Given the description of an element on the screen output the (x, y) to click on. 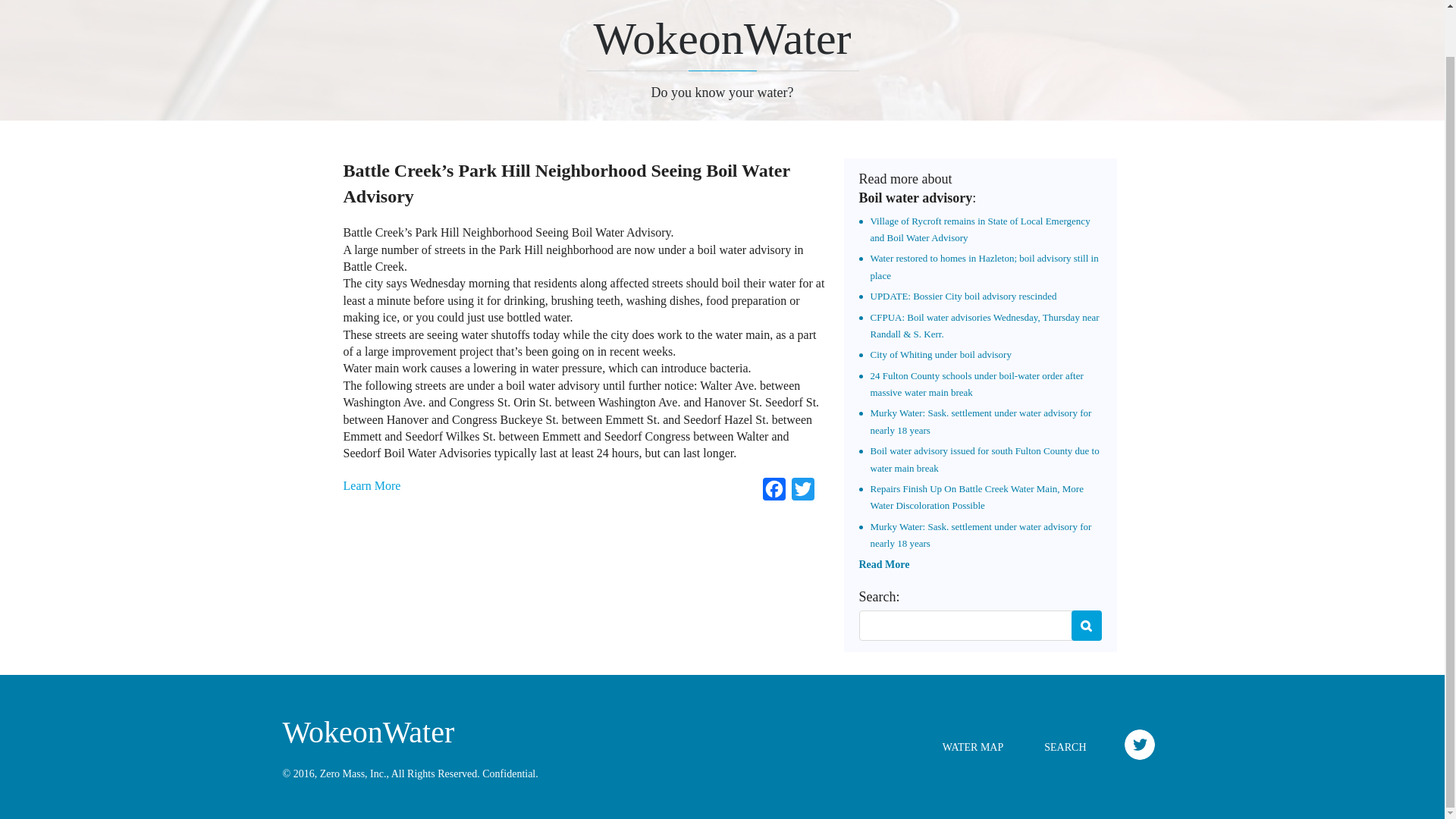
Search (1085, 625)
Read More (883, 564)
City of Whiting under boil advisory (940, 354)
SEARCH (1065, 747)
Twitter (802, 492)
Facebook (774, 492)
WATER MAP (973, 747)
Facebook (774, 492)
Twitter (802, 492)
UPDATE: Bossier City boil advisory rescinded (963, 296)
